Given the description of an element on the screen output the (x, y) to click on. 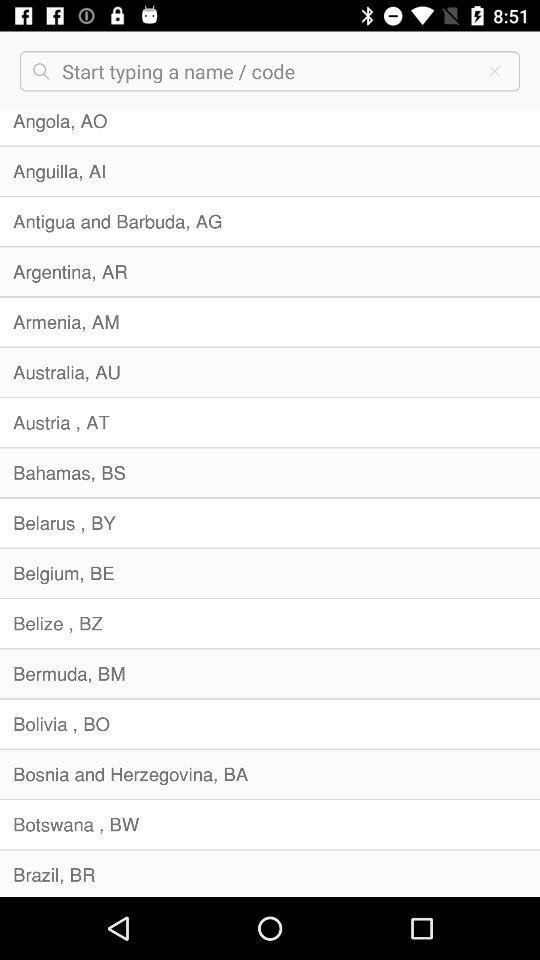
click the bahamas, bs icon (270, 472)
